Given the description of an element on the screen output the (x, y) to click on. 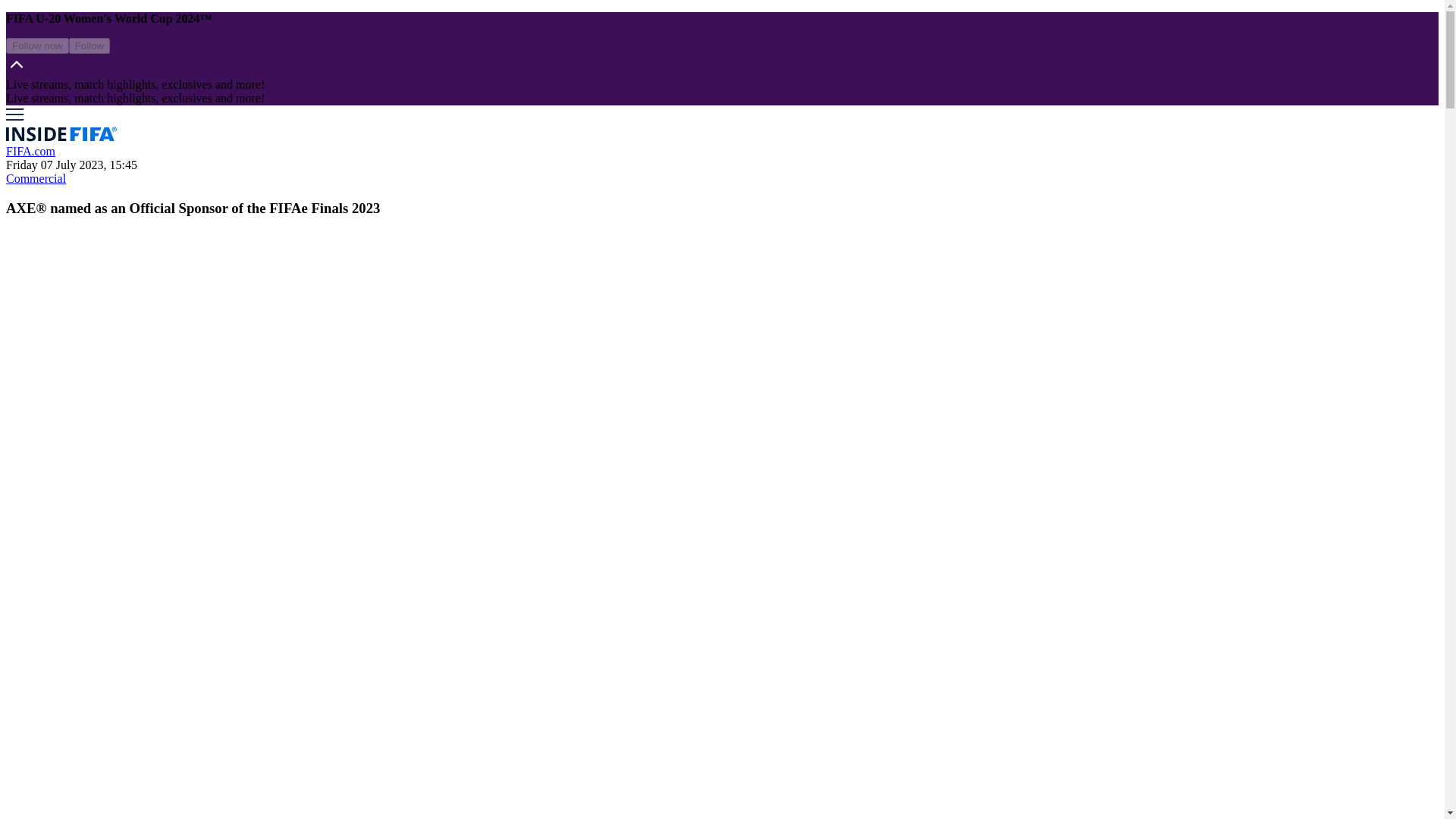
Commercial (35, 178)
Follow (89, 45)
Follow now (36, 45)
